Given the description of an element on the screen output the (x, y) to click on. 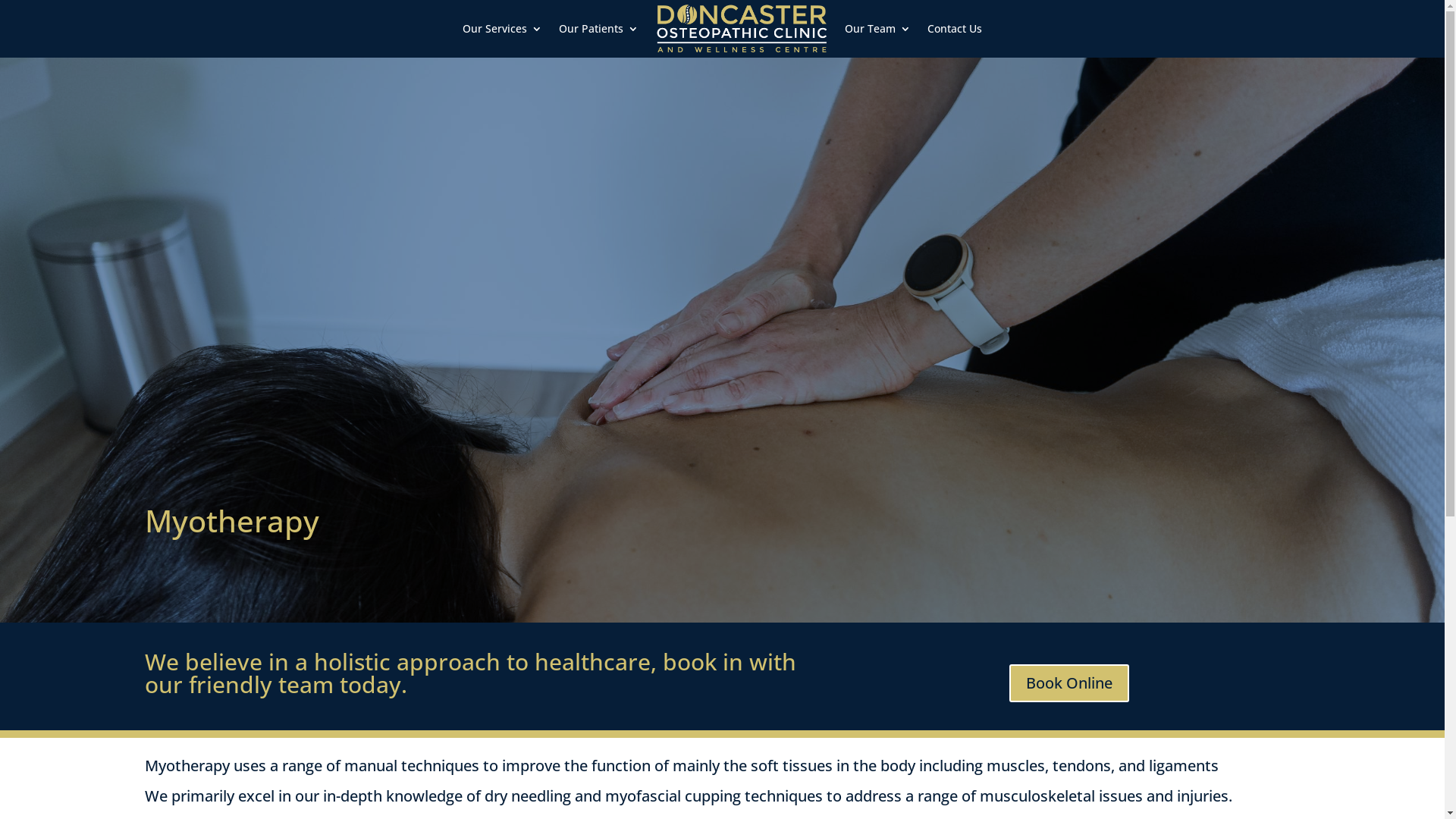
Contact Us Element type: text (954, 28)
Book Online Element type: text (1069, 683)
Our Services Element type: text (502, 28)
Our Patients Element type: text (598, 28)
Our Team Element type: text (877, 28)
